Given the description of an element on the screen output the (x, y) to click on. 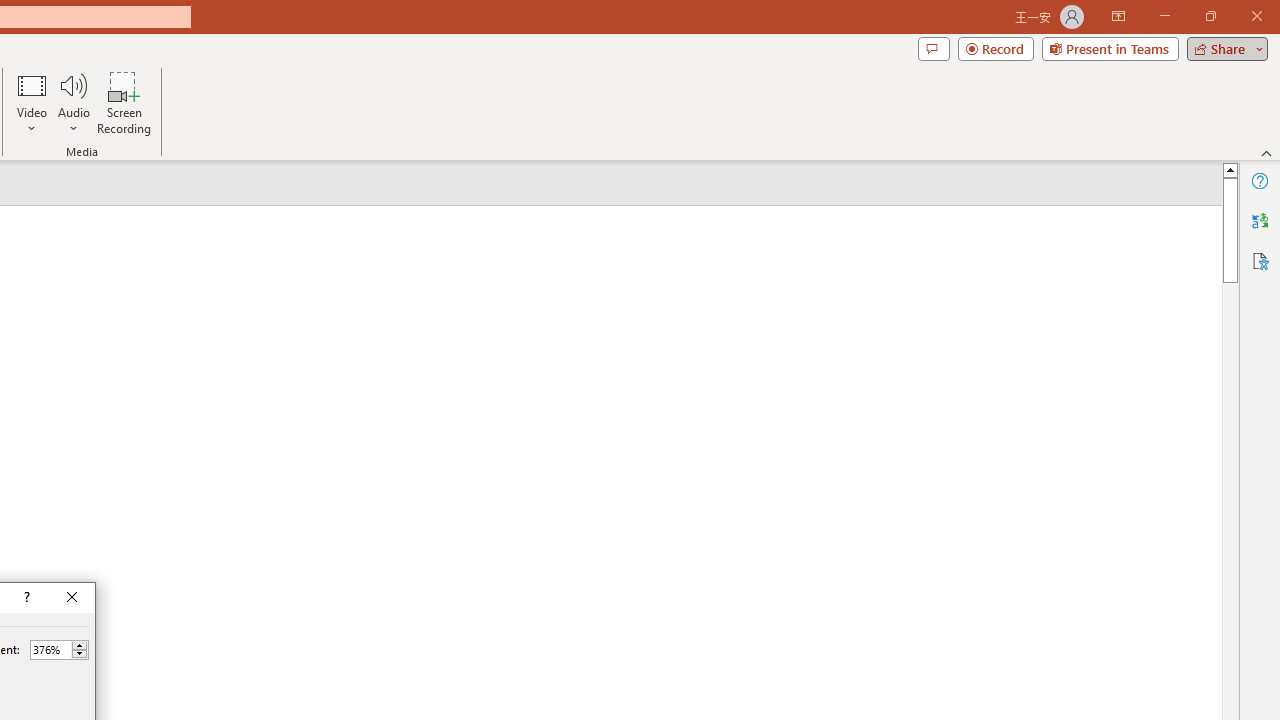
Percent (59, 650)
Screen Recording... (123, 102)
